Given the description of an element on the screen output the (x, y) to click on. 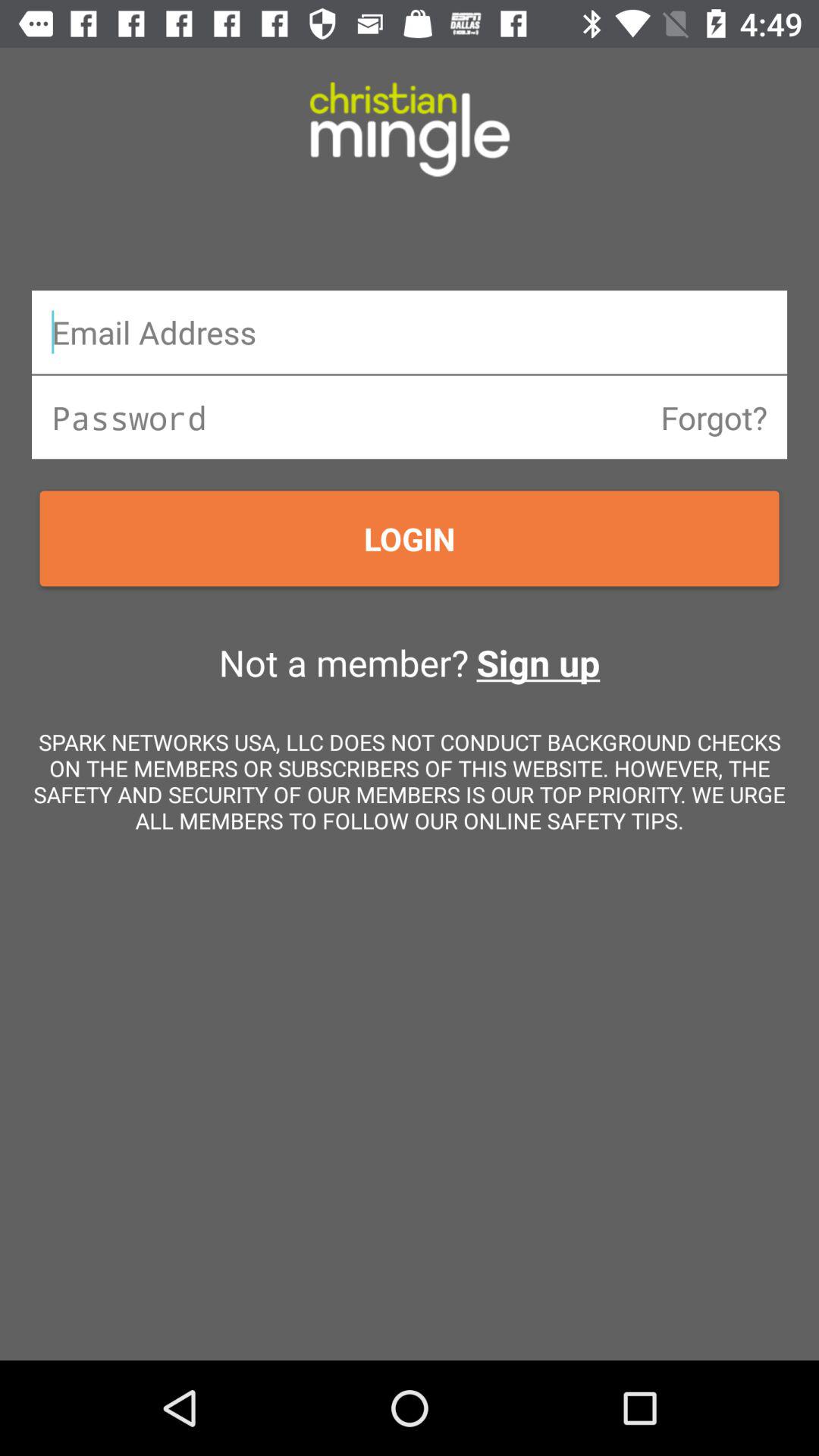
enter your password (409, 416)
